Given the description of an element on the screen output the (x, y) to click on. 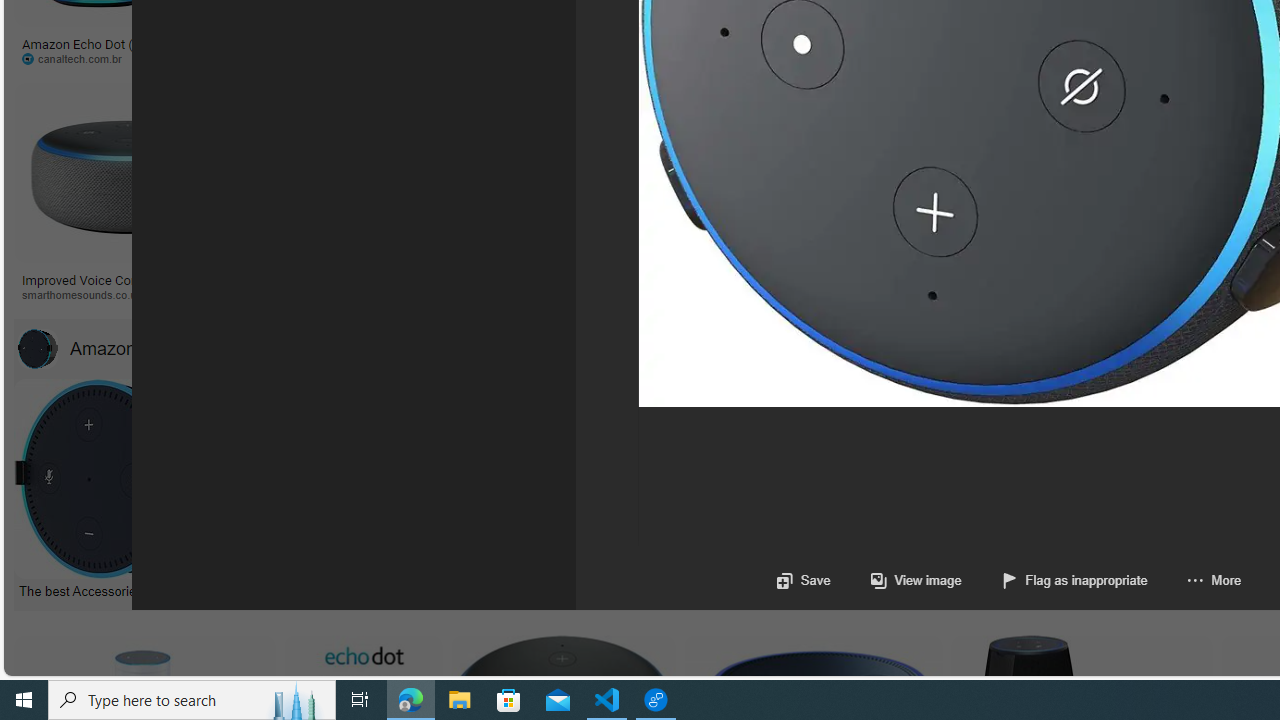
mediamarkt.de (877, 294)
Flag as inappropriate (1054, 580)
Amazon Echo Dot Accessories (167, 348)
Amazon Echo Dot With Clock Review | Security.org (404, 279)
Amazon Echo Dot With Clock Review | Security.org (438, 279)
security.org (438, 295)
